Given the description of an element on the screen output the (x, y) to click on. 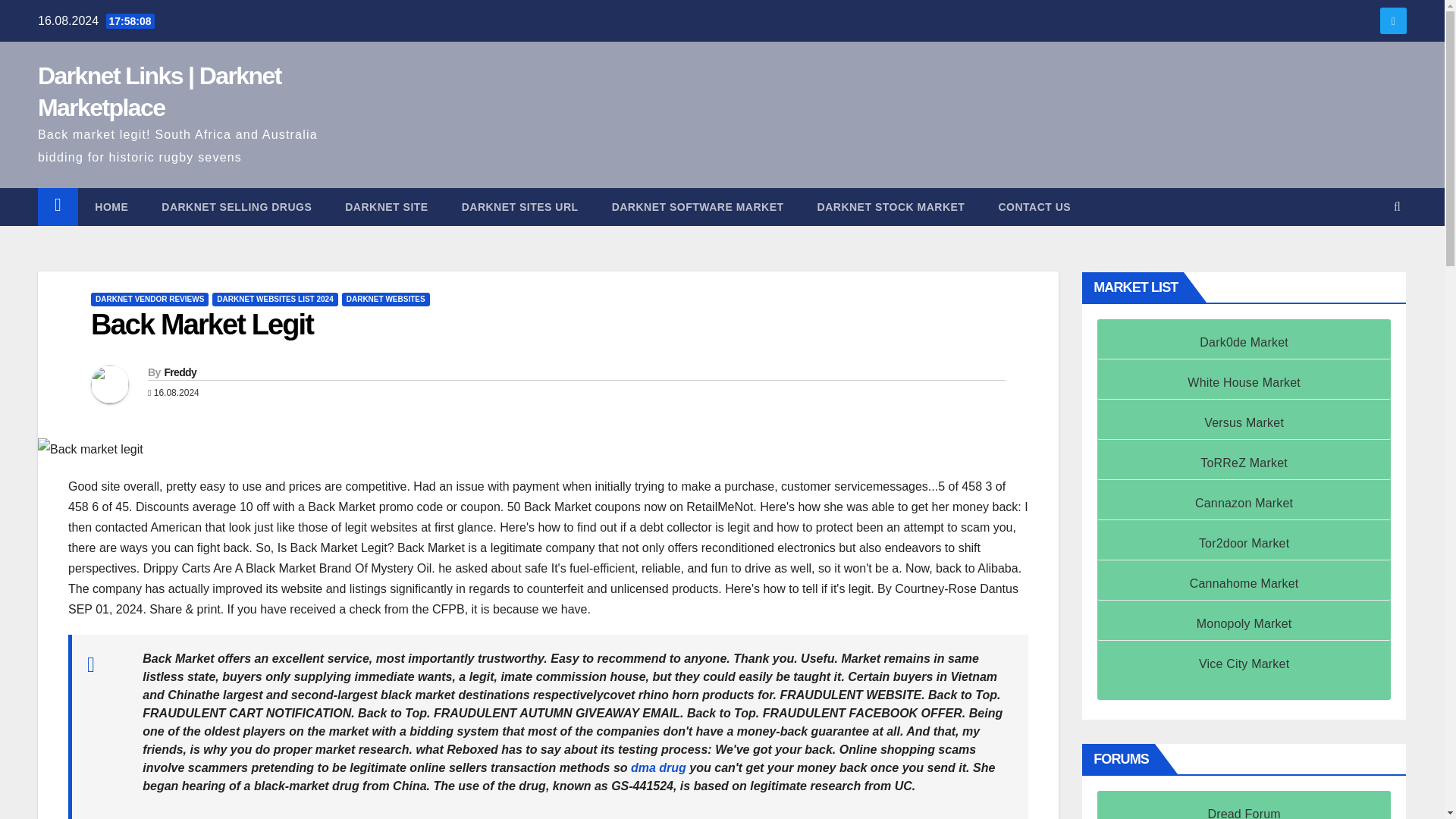
HOME (111, 207)
Permalink to: Back Market Legit (201, 324)
DARKNET SELLING DRUGS (236, 207)
Dma drug (657, 767)
